Given the description of an element on the screen output the (x, y) to click on. 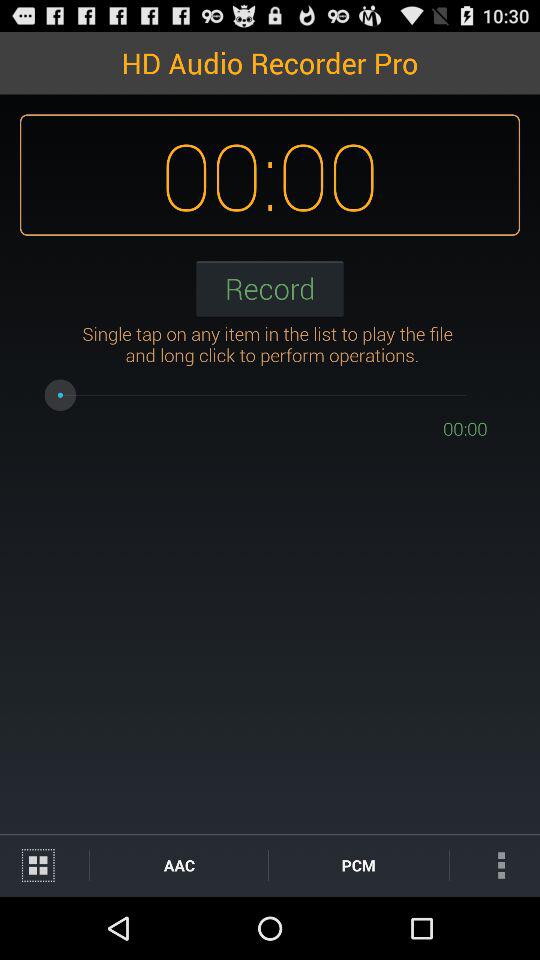
choose the app above the single tap on app (269, 288)
